Given the description of an element on the screen output the (x, y) to click on. 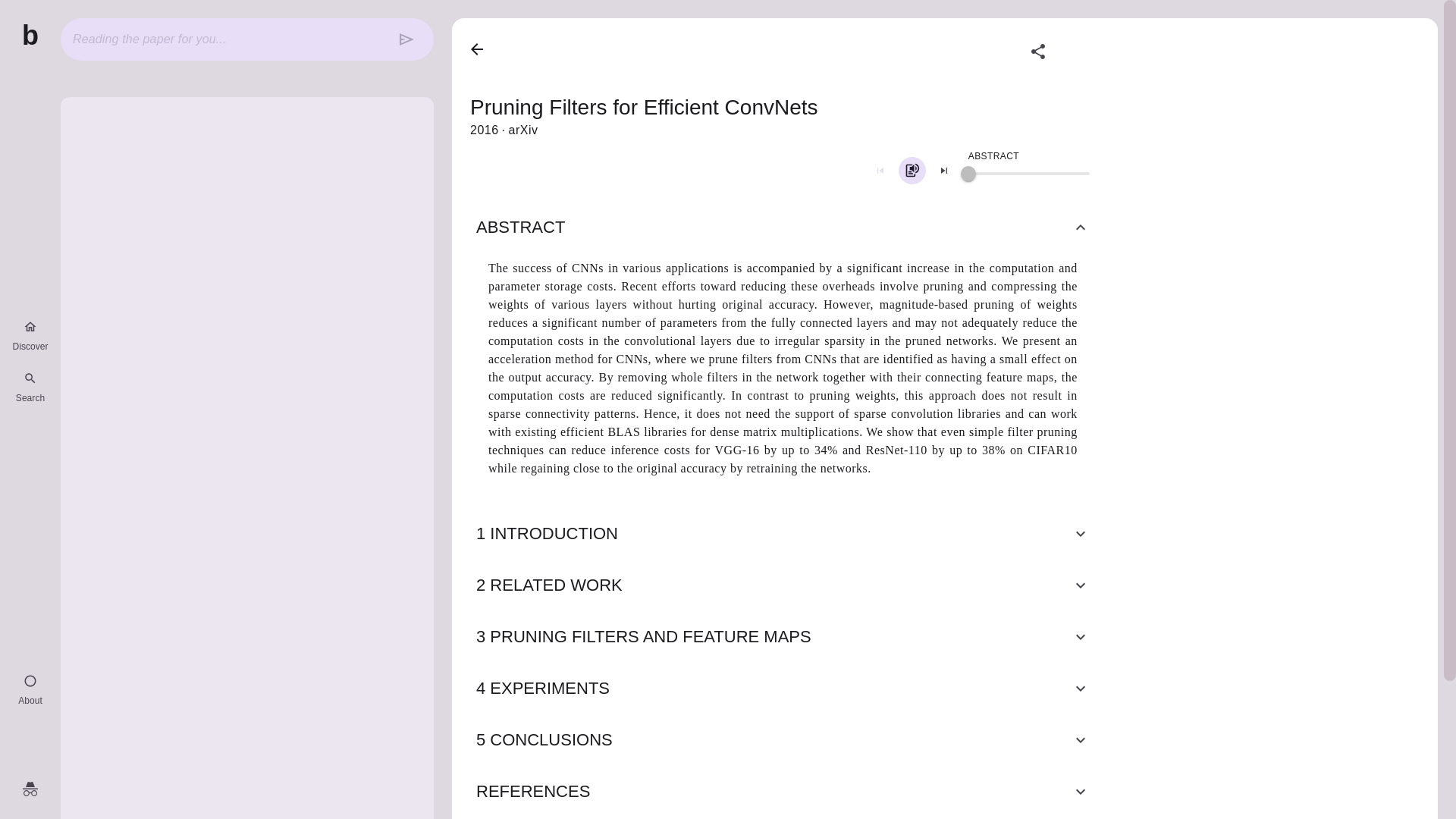
Search (29, 387)
0 (967, 173)
Discover (29, 335)
Listen aloud (912, 170)
About (29, 690)
Sign in (30, 789)
b (29, 36)
